Given the description of an element on the screen output the (x, y) to click on. 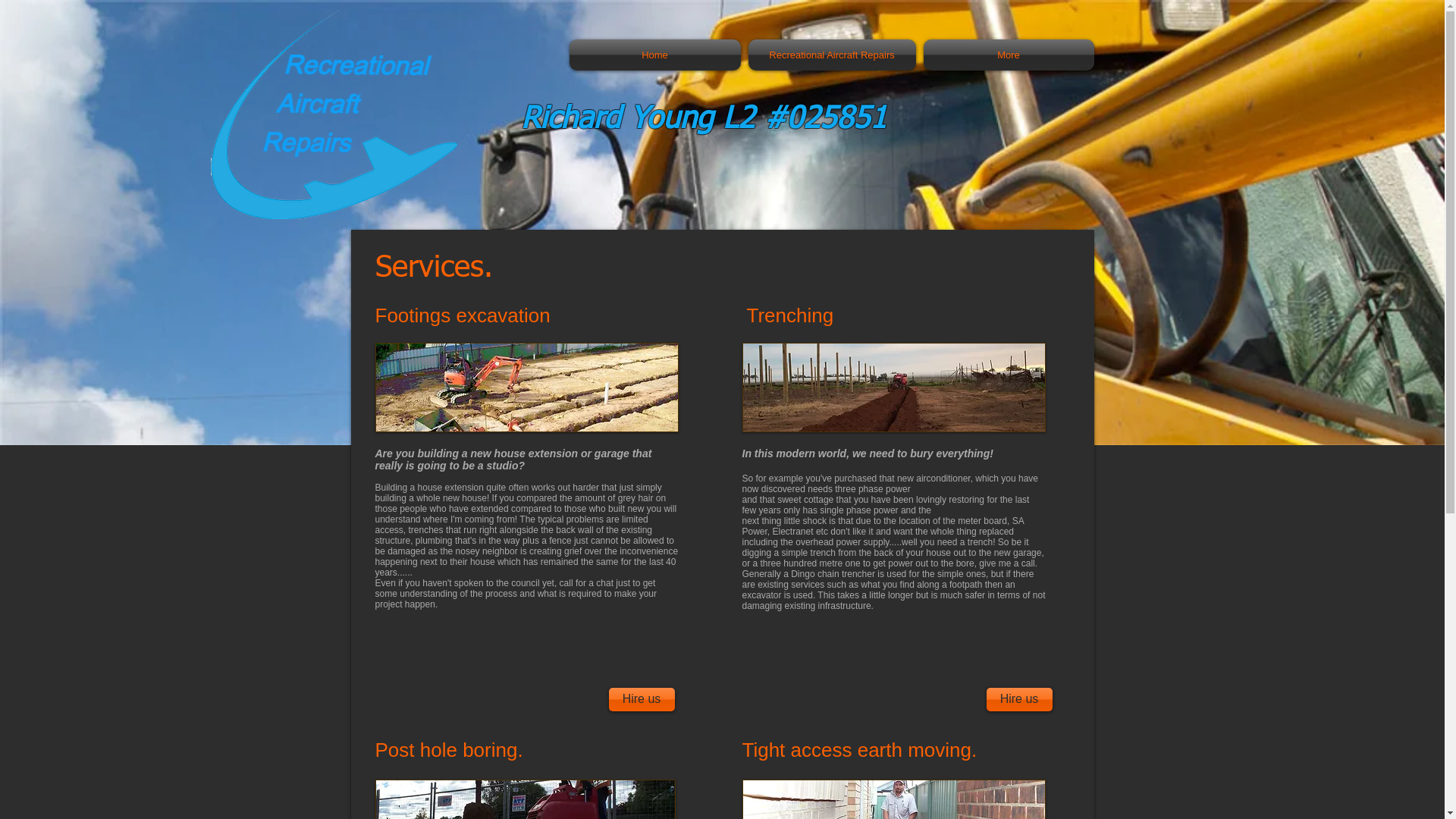
Hire us Element type: text (641, 699)
plane logo v3.png Element type: hover (333, 114)
Hire us Element type: text (1018, 699)
Home Element type: text (655, 54)
Irrigation trenching at Virginia Element type: hover (892, 387)
Recreational Aircraft Repairs Element type: text (831, 54)
Dig footings for new houses at Ingle Farm Element type: hover (525, 387)
